Given the description of an element on the screen output the (x, y) to click on. 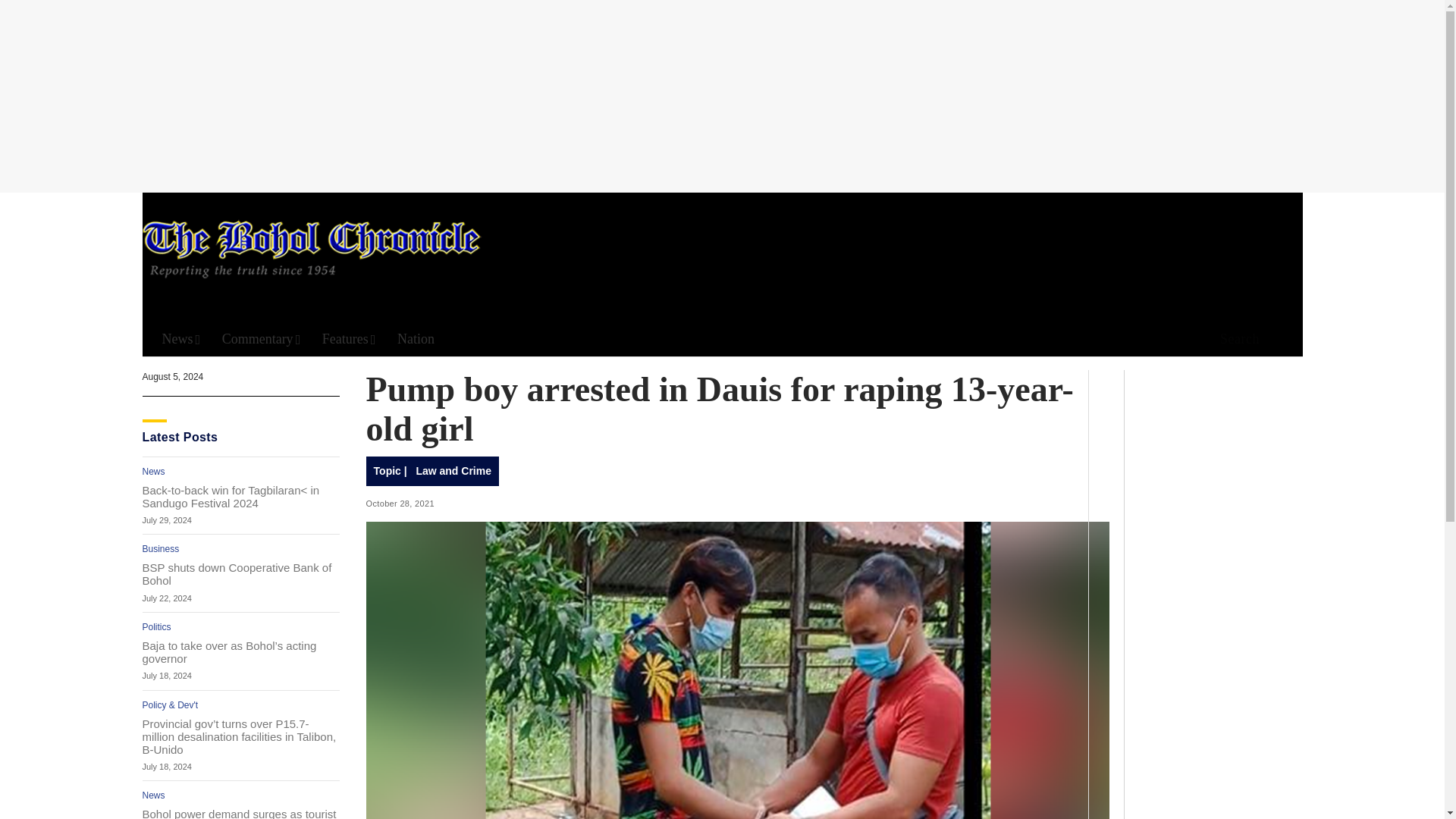
Search (1234, 339)
News (180, 339)
Nation (415, 339)
Features (348, 339)
News (153, 795)
News (153, 471)
Business (160, 548)
BSP shuts down Cooperative Bank of Bohol (240, 574)
Politics (156, 626)
Search (946, 157)
Bohol power demand surges as tourist arrivals rise (240, 813)
Commentary (261, 339)
